Given the description of an element on the screen output the (x, y) to click on. 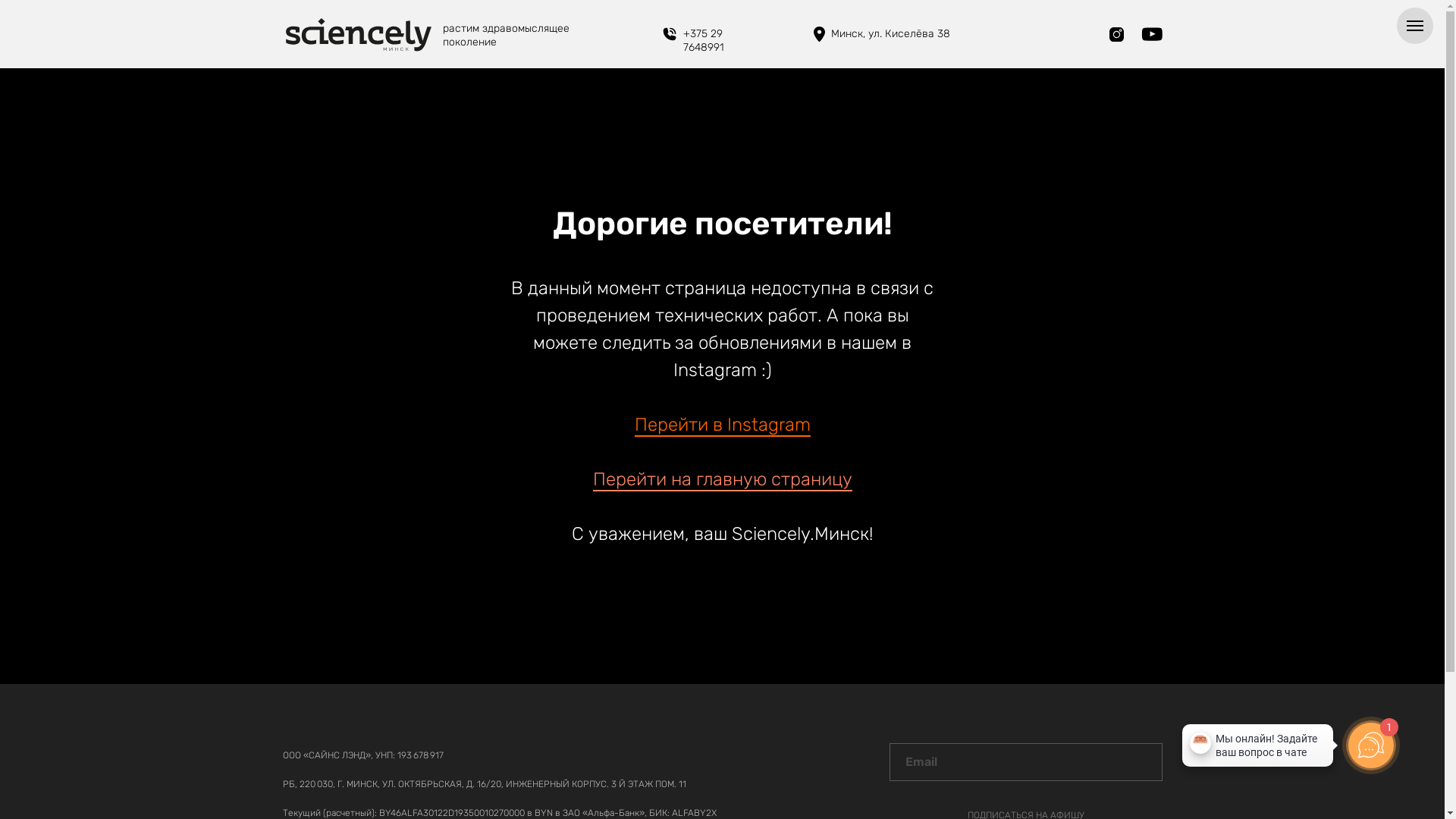
amoCRM Live Chat Element type: hover (1257, 749)
+375 29 7648991 Element type: text (702, 40)
